Given the description of an element on the screen output the (x, y) to click on. 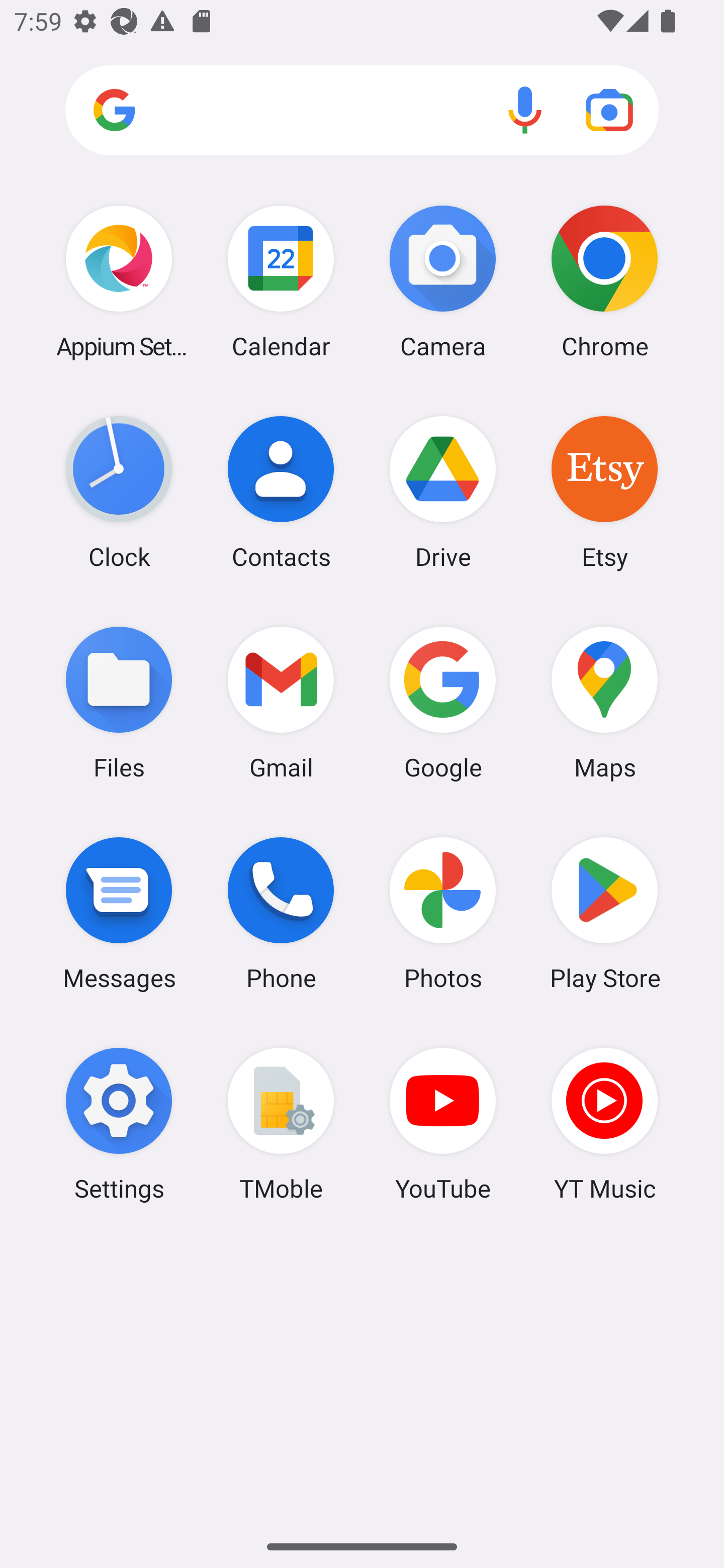
Search apps, web and more (361, 110)
Voice search (524, 109)
Google Lens (608, 109)
Appium Settings (118, 281)
Calendar (280, 281)
Camera (443, 281)
Chrome (604, 281)
Clock (118, 492)
Contacts (280, 492)
Drive (443, 492)
Etsy (604, 492)
Files (118, 702)
Gmail (280, 702)
Google (443, 702)
Maps (604, 702)
Messages (118, 913)
Phone (280, 913)
Photos (443, 913)
Play Store (604, 913)
Settings (118, 1124)
TMoble (280, 1124)
YouTube (443, 1124)
YT Music (604, 1124)
